Given the description of an element on the screen output the (x, y) to click on. 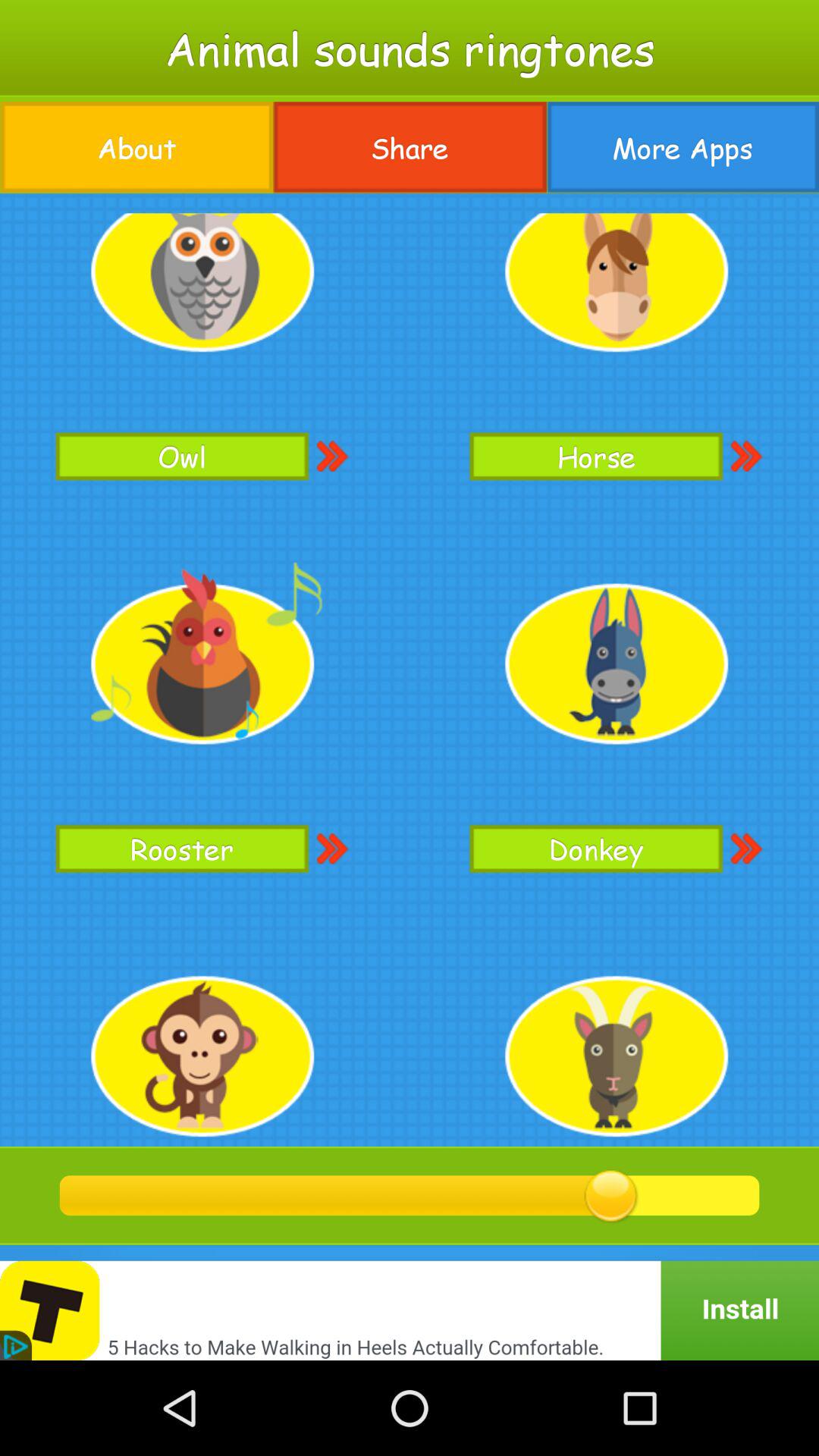
click the app below animal sounds ringtones (136, 147)
